Given the description of an element on the screen output the (x, y) to click on. 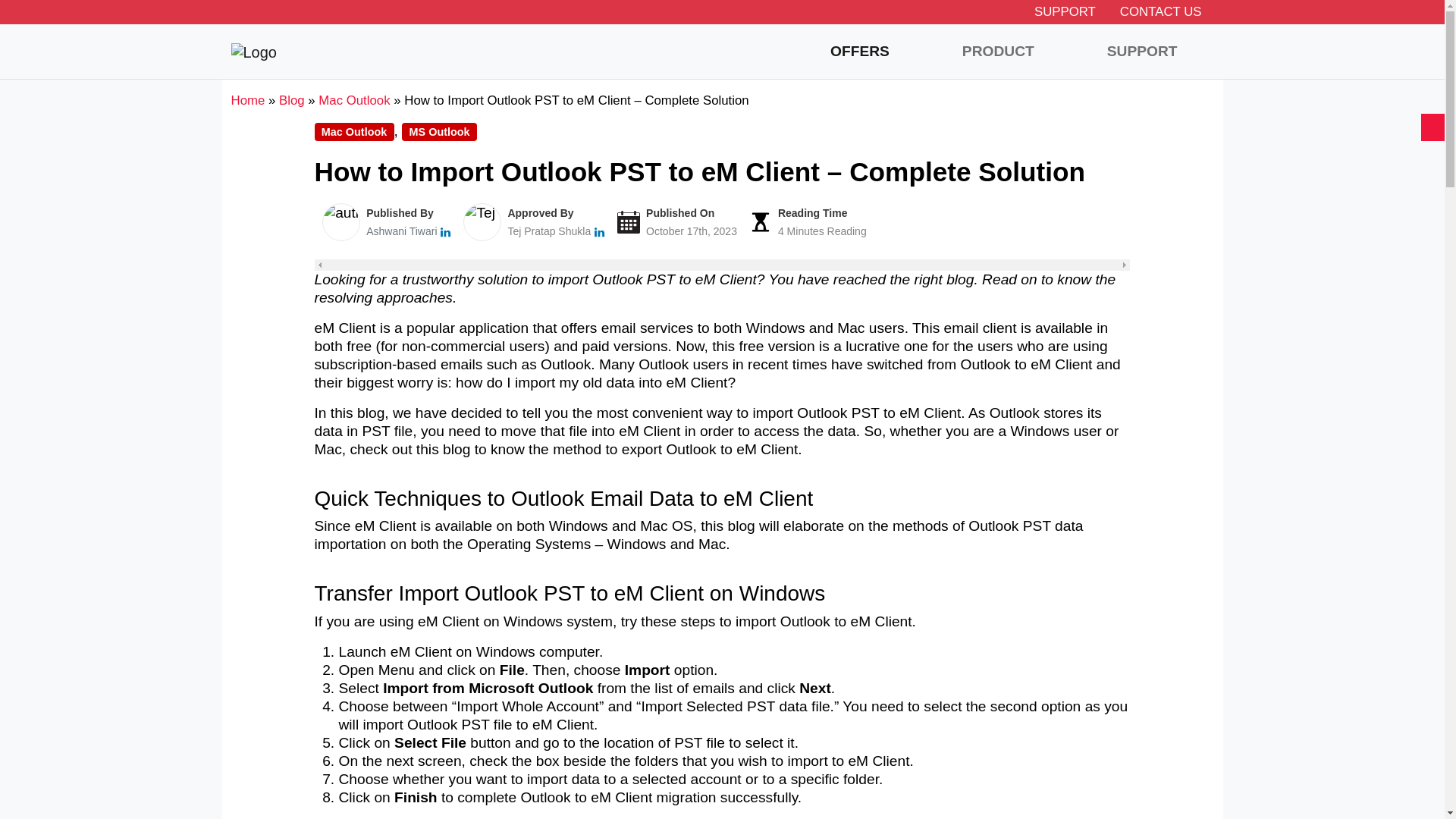
MS Outlook (439, 131)
SUPPORT (1065, 11)
CONTACT US (1161, 11)
Home (247, 100)
PRODUCT (998, 51)
SUPPORT (1142, 51)
Mac Outlook (354, 100)
OFFERS (859, 51)
Blog (291, 100)
Ashwani Tiwari (401, 231)
